Given the description of an element on the screen output the (x, y) to click on. 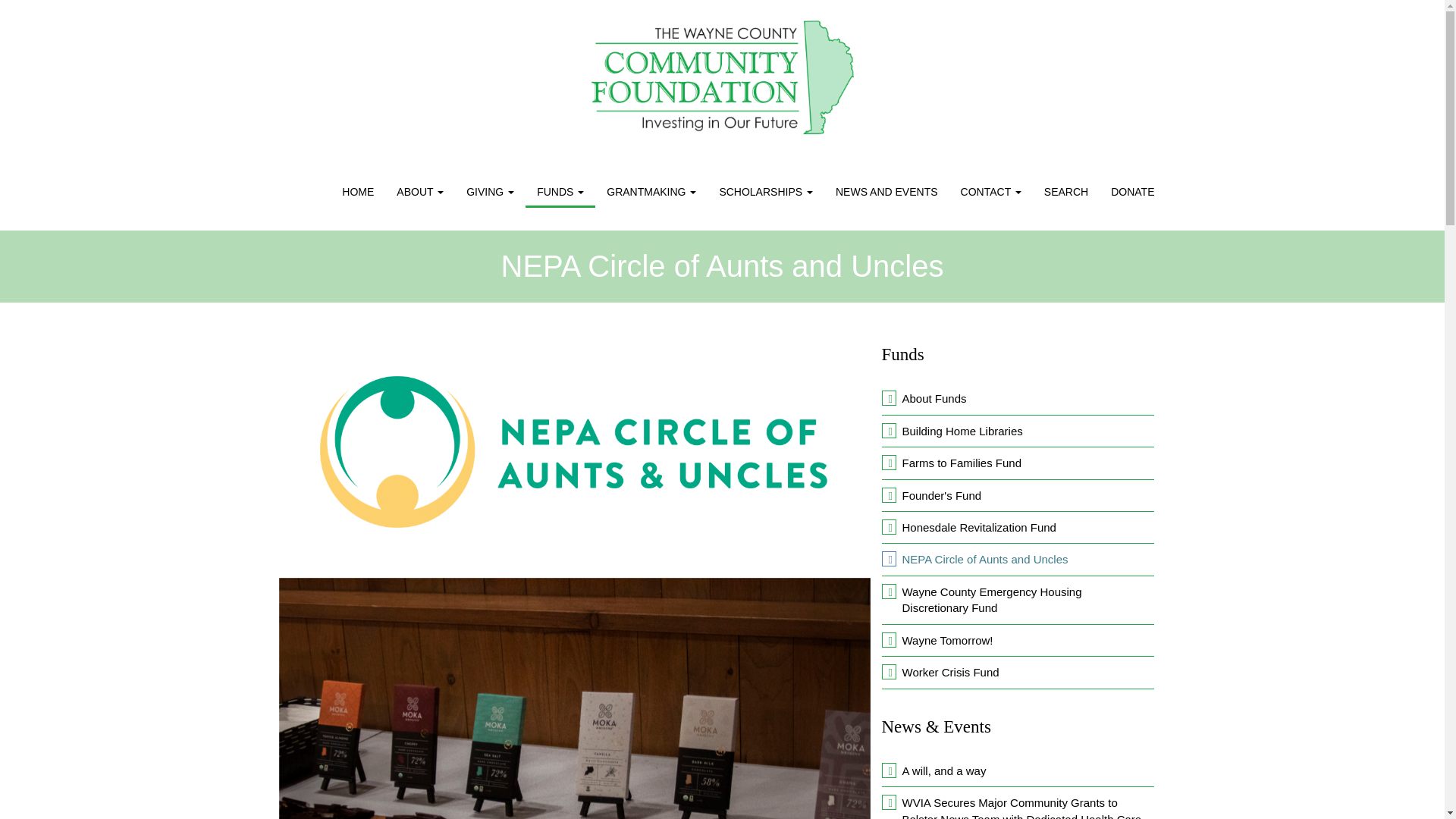
FUNDS (560, 192)
GRANTMAKING (651, 192)
GIVING (489, 192)
ABOUT (419, 192)
SCHOLARSHIPS (765, 192)
HOME (357, 192)
